Given the description of an element on the screen output the (x, y) to click on. 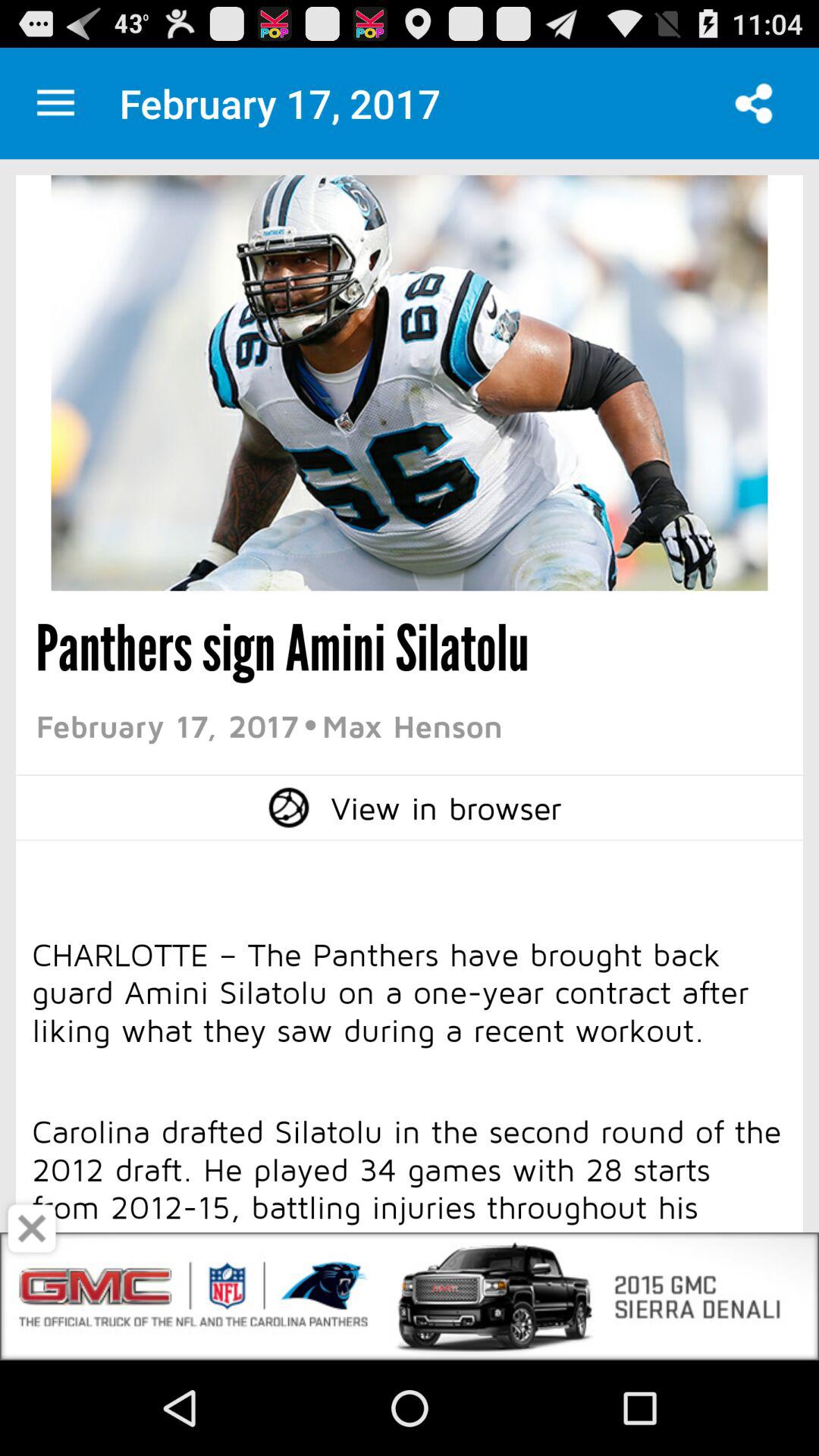
screen page (409, 1110)
